Given the description of an element on the screen output the (x, y) to click on. 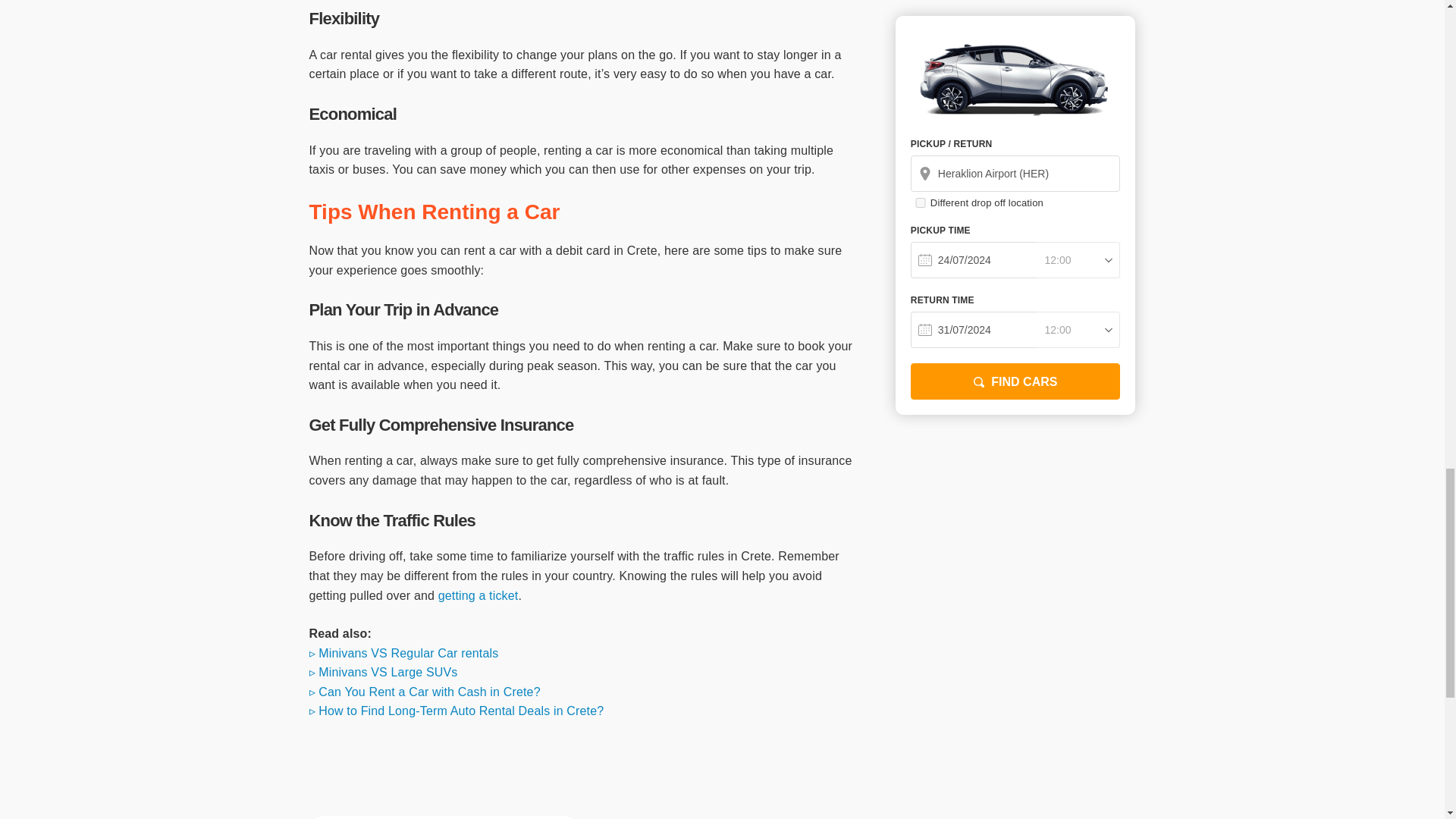
getting a ticket (478, 594)
